Given the description of an element on the screen output the (x, y) to click on. 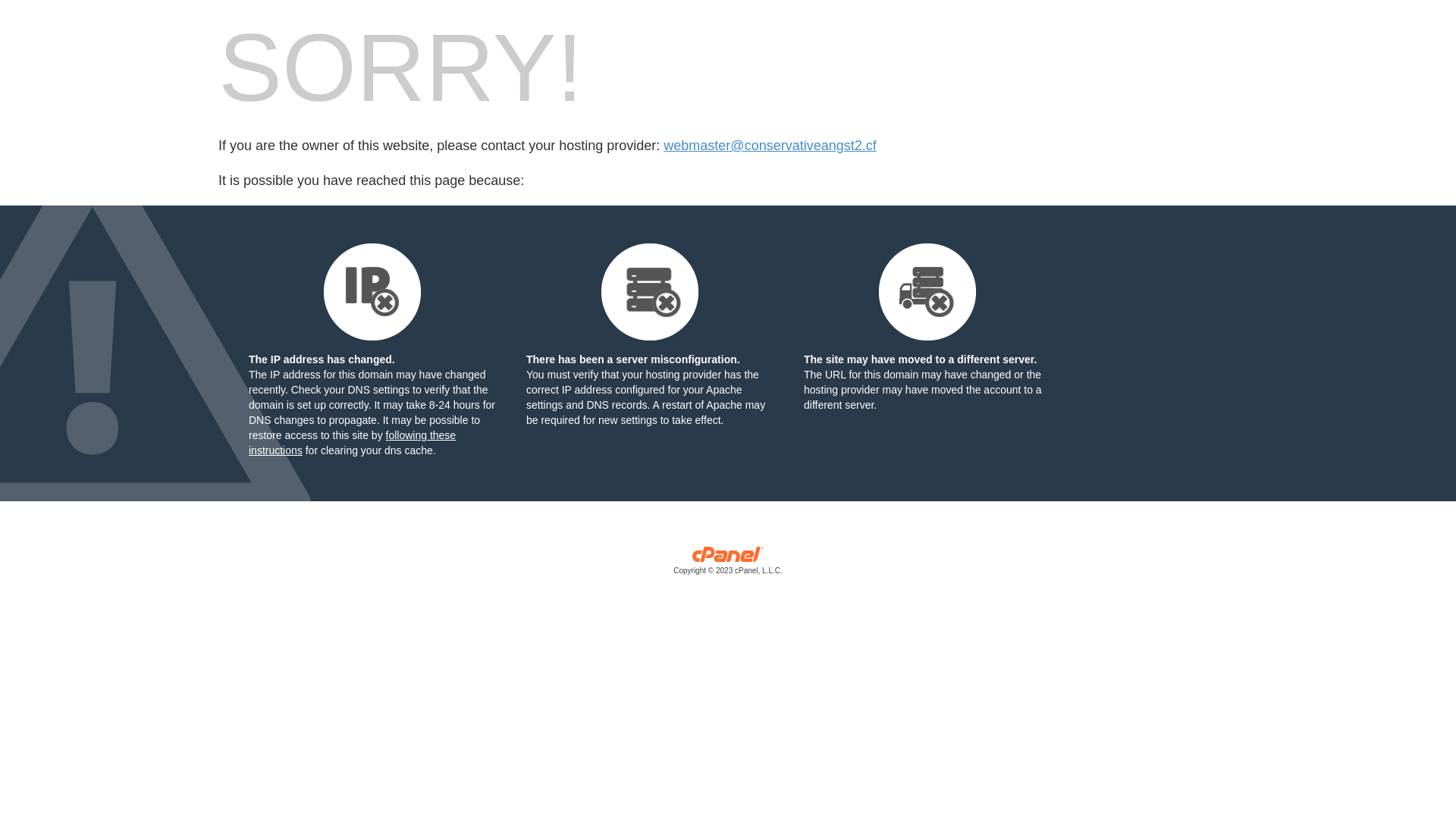
following these instructions Element type: text (351, 442)
webmaster@conservativeangst2.cf Element type: text (769, 145)
